Given the description of an element on the screen output the (x, y) to click on. 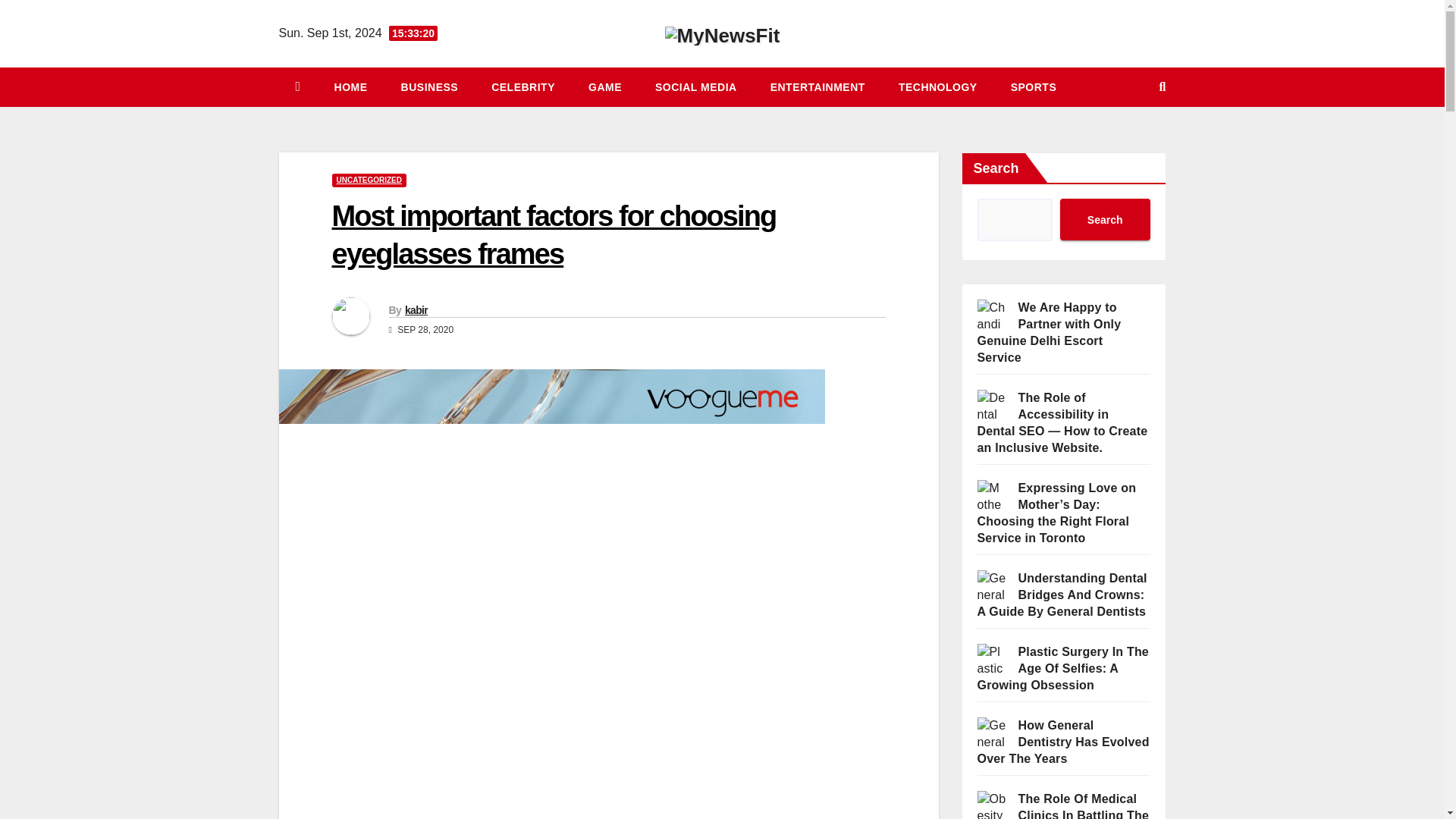
BUSINESS (430, 87)
HOME (350, 87)
SPORTS (1034, 87)
Most important factors for choosing eyeglasses frames (553, 234)
Home (350, 87)
Social Media (696, 87)
CELEBRITY (523, 87)
UNCATEGORIZED (368, 180)
Sports (1034, 87)
